Given the description of an element on the screen output the (x, y) to click on. 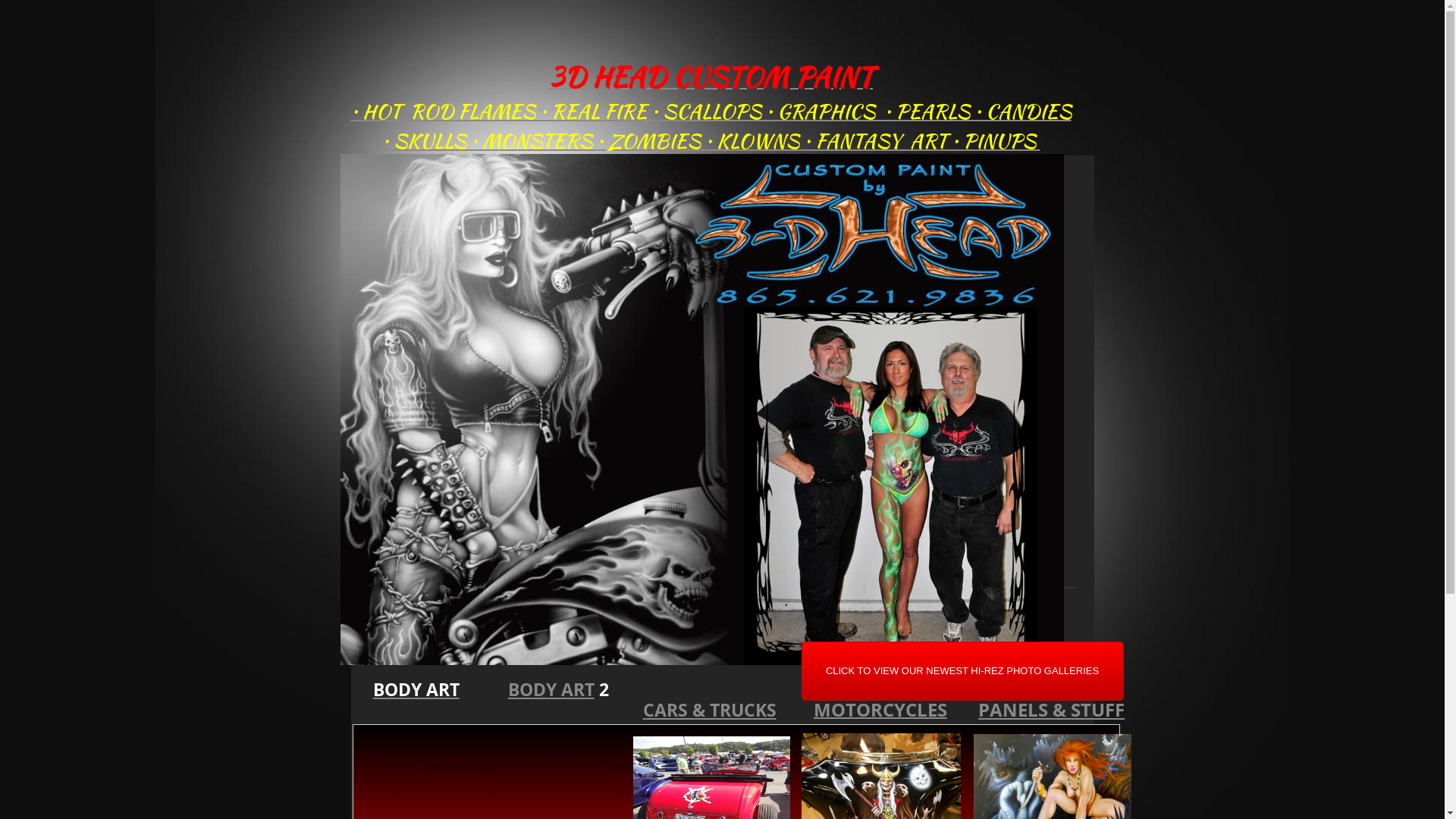
CARS & TRUCKS Element type: text (709, 709)
BODY ART Element type: text (416, 689)
3D HEAD CUSTOM PAINT Element type: text (710, 77)
HOME Element type: text (374, 645)
PANELS & STUFF Element type: text (1051, 708)
SERVICES Element type: text (577, 645)
BODY ART Element type: text (551, 689)
MOTORCYCLES Element type: text (880, 710)
CONTACT US Element type: text (505, 645)
CLICK TO VIEW OUR NEWEST HI-REZ PHOTO GALLERIES Element type: text (961, 670)
ABOUT US Element type: text (430, 645)
